Given the description of an element on the screen output the (x, y) to click on. 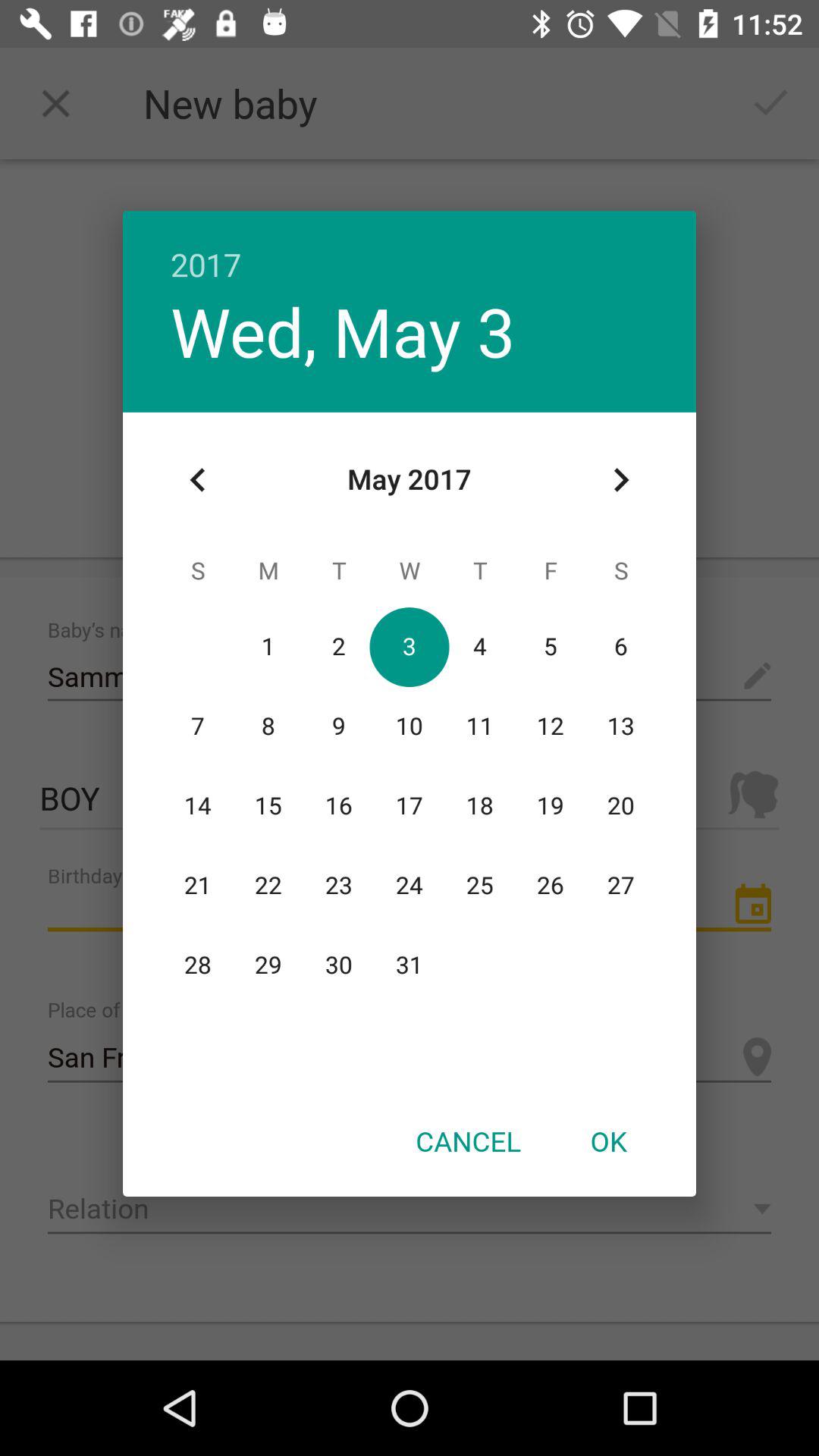
choose icon above wed, may 3 (409, 248)
